Given the description of an element on the screen output the (x, y) to click on. 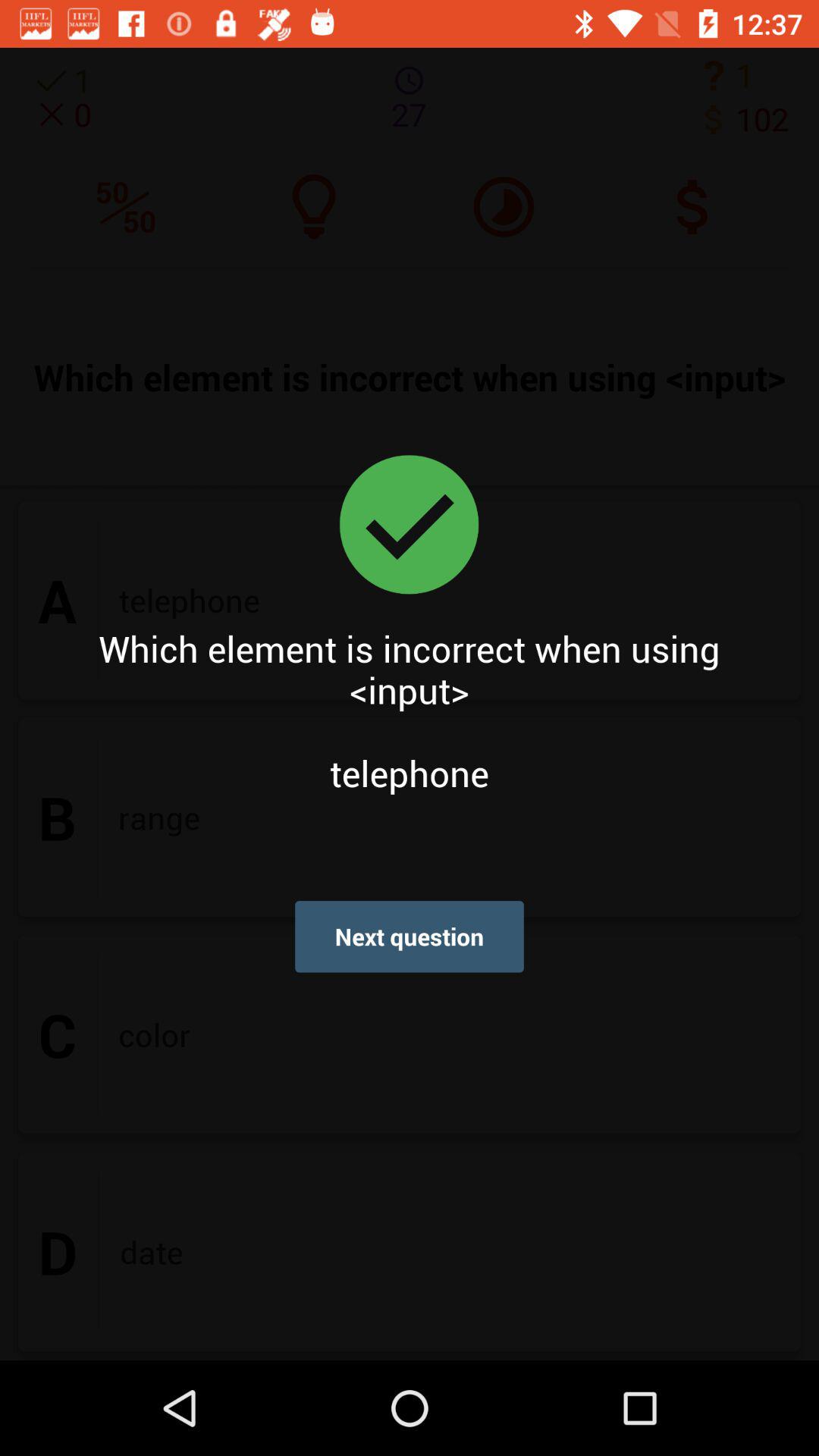
scroll until the next question (409, 936)
